Given the description of an element on the screen output the (x, y) to click on. 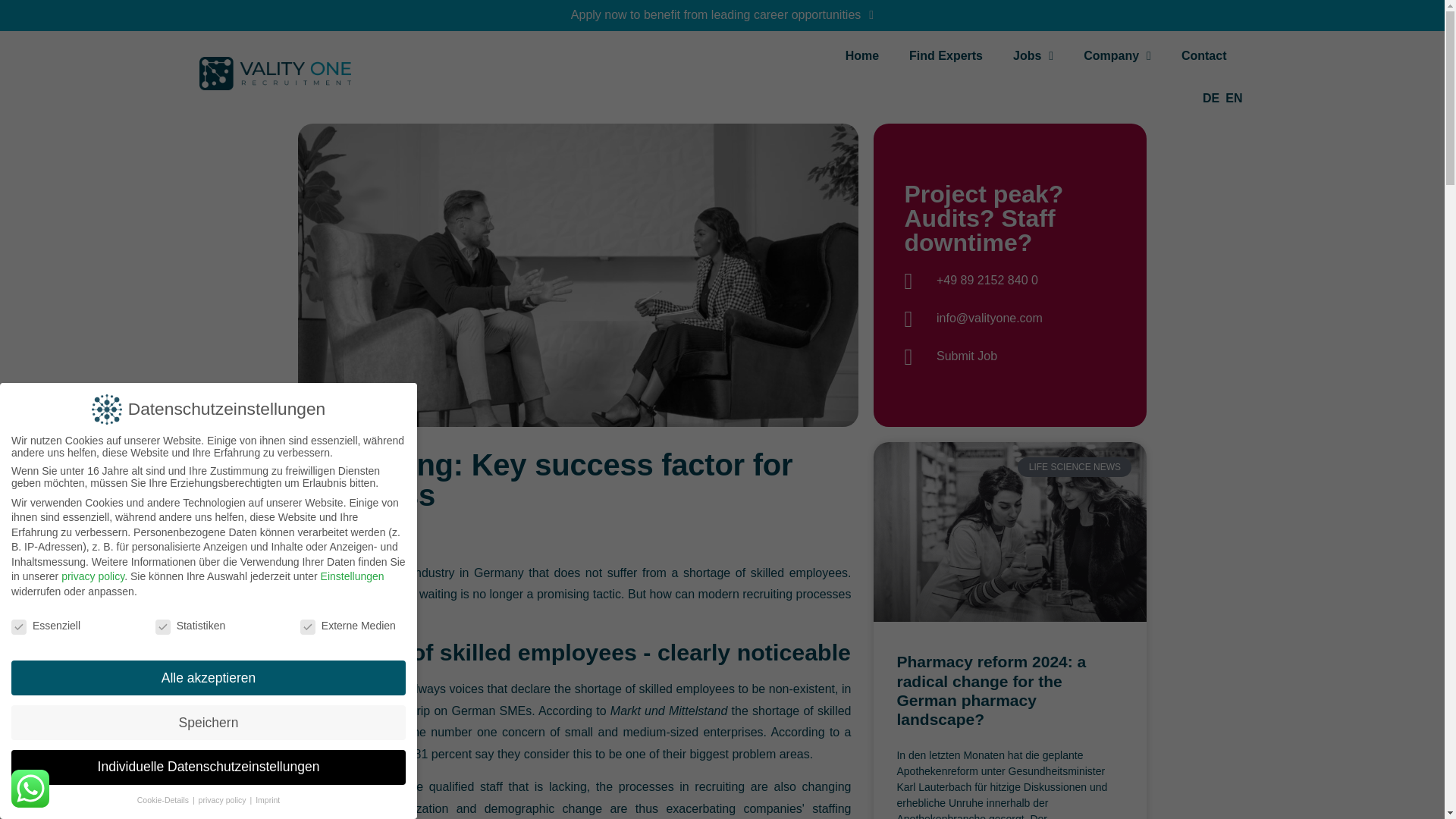
EN (1233, 98)
Find Experts (945, 55)
Submit Job (1010, 356)
Company (1117, 55)
May 2021 (338, 536)
Home (861, 55)
Apply now to benefit from leading career opportunities (721, 15)
DE (1211, 98)
Jobs (1032, 55)
Contact (1203, 55)
